Given the description of an element on the screen output the (x, y) to click on. 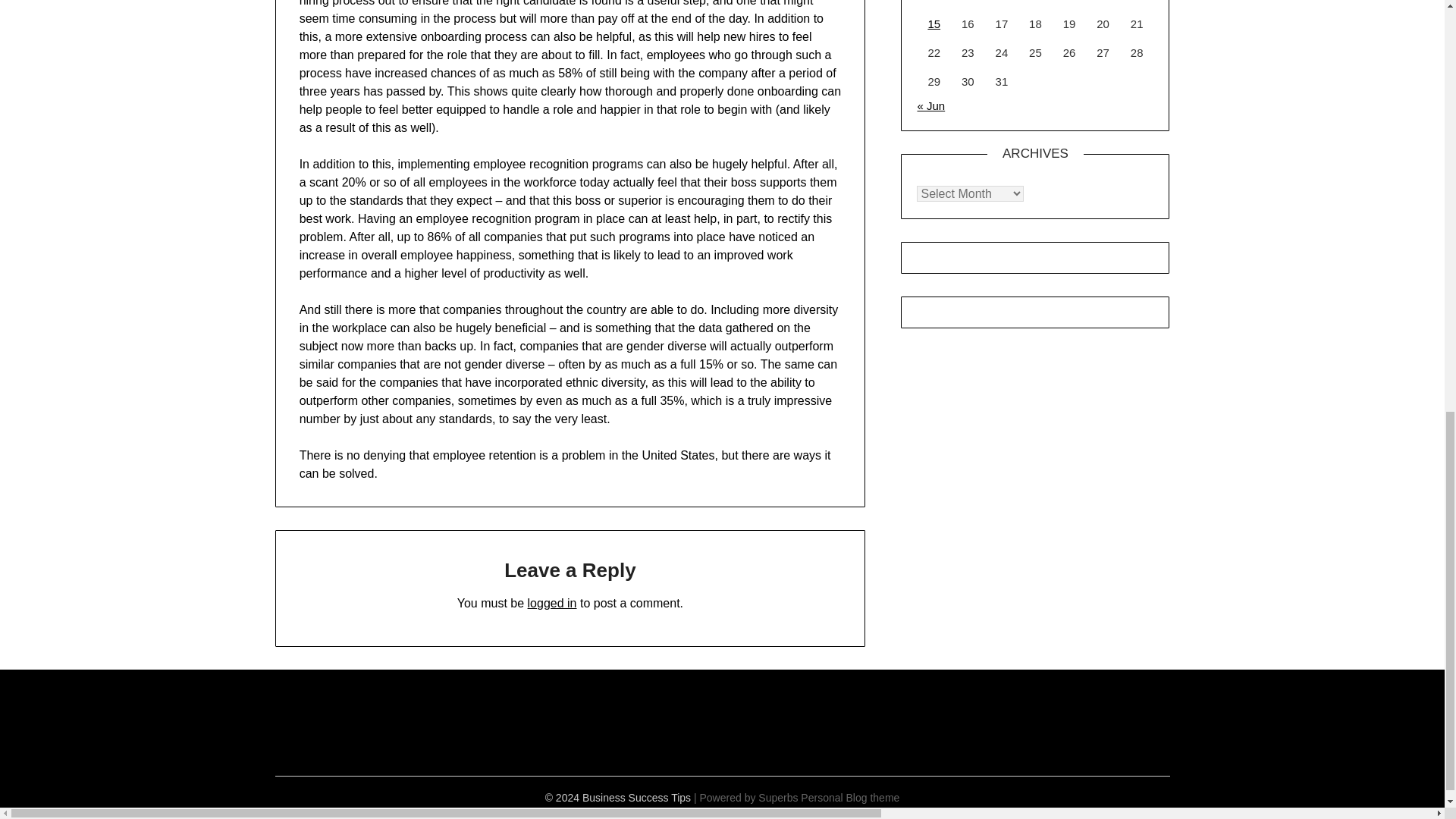
15 (933, 23)
Personal Blog theme (849, 797)
logged in (551, 603)
